Given the description of an element on the screen output the (x, y) to click on. 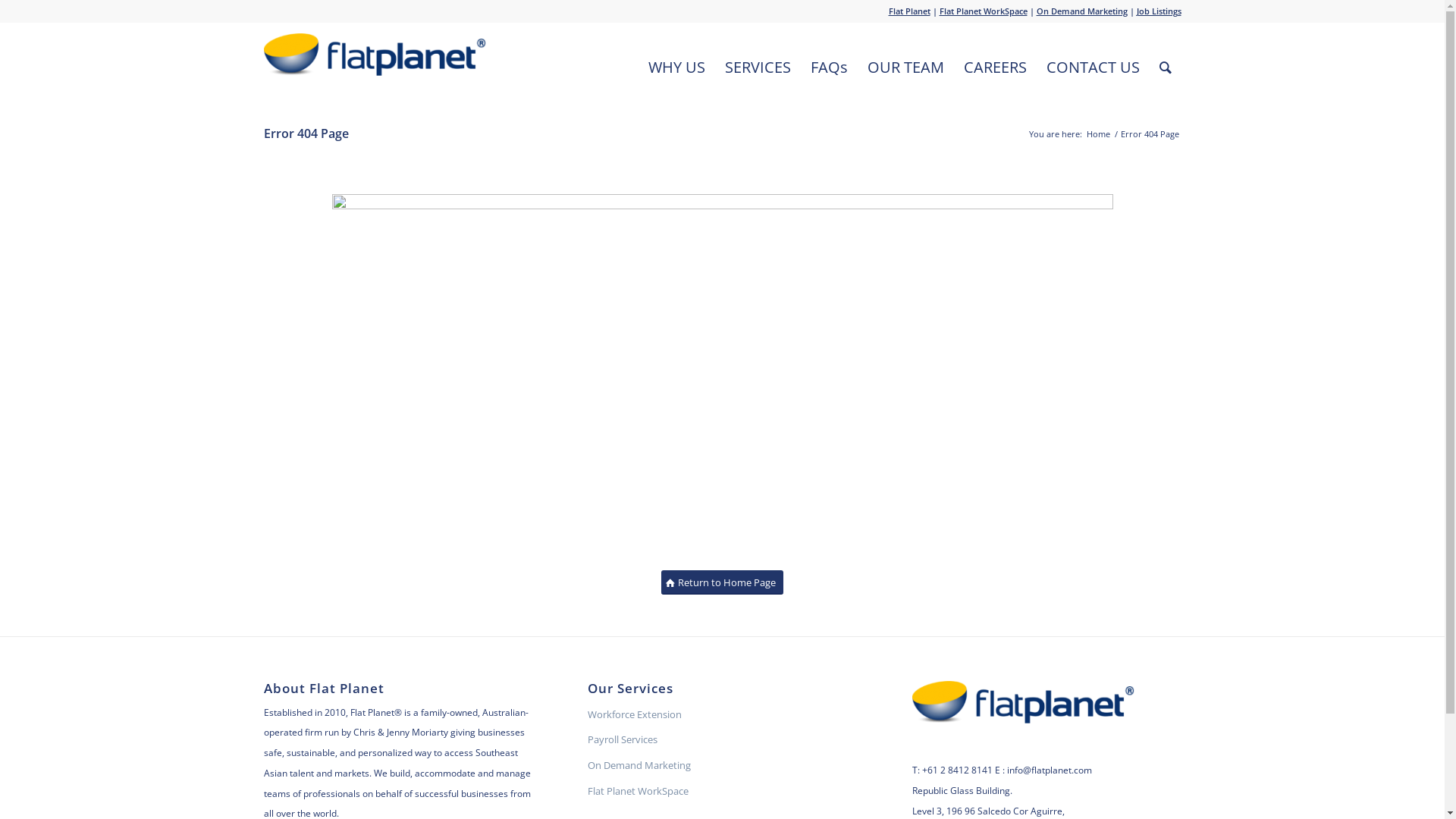
On Demand Marketing Element type: text (721, 765)
Workforce Extension Element type: text (721, 715)
Home Element type: text (1098, 133)
Error 404 Page Element type: text (305, 133)
Payroll Services Element type: text (721, 740)
FAQs Element type: text (828, 67)
SERVICES Element type: text (757, 67)
CAREERS Element type: text (994, 67)
CONTACT US Element type: text (1091, 67)
Flat Planet WorkSpace Element type: text (721, 791)
Flat Planet Element type: text (909, 10)
WHY US Element type: text (676, 67)
On Demand Marketing Element type: text (1080, 10)
OUR TEAM Element type: text (904, 67)
Flat Planet WorkSpace Element type: text (982, 10)
Return to Home Page Element type: text (722, 582)
Job Listings Element type: text (1157, 10)
404 (4) Element type: hover (722, 377)
